Given the description of an element on the screen output the (x, y) to click on. 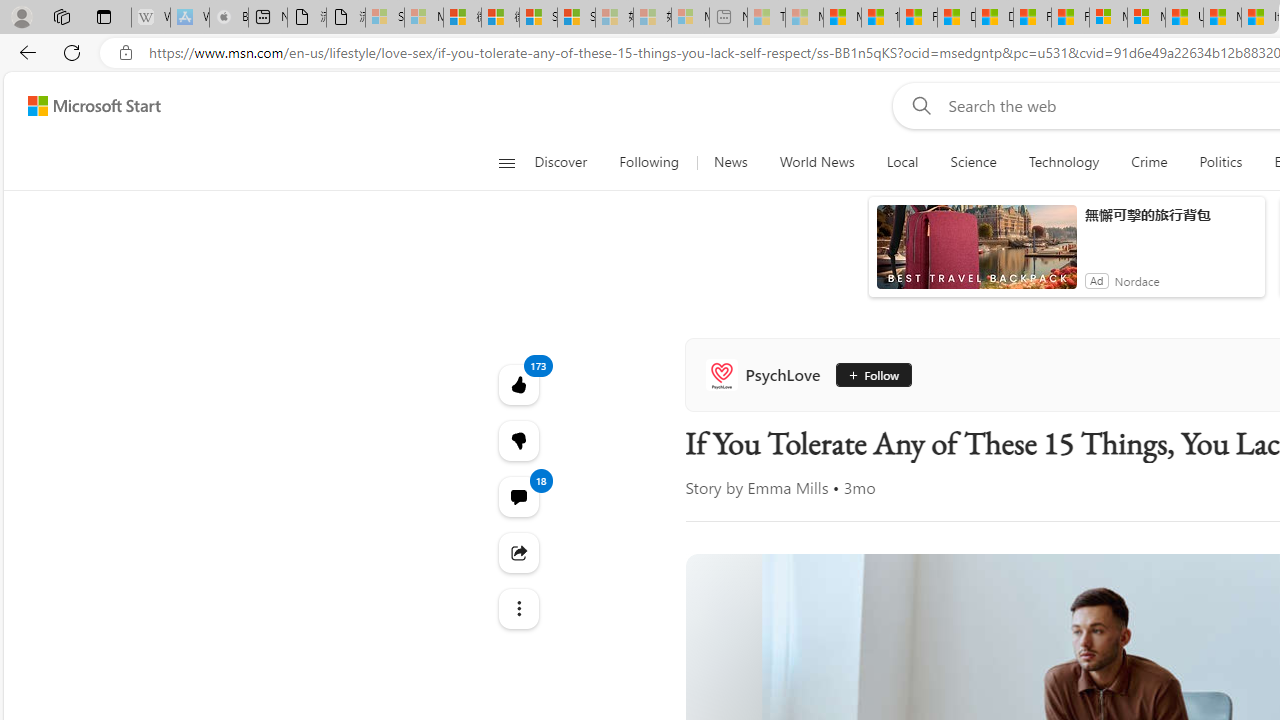
Class: at-item (517, 609)
Drinking tea every day is proven to delay biological aging (993, 17)
anim-content (975, 255)
Sign in to your Microsoft account - Sleeping (385, 17)
Science (973, 162)
Technology (1064, 162)
Local (902, 162)
Open navigation menu (506, 162)
Marine life - MSN - Sleeping (804, 17)
Technology (1063, 162)
